Given the description of an element on the screen output the (x, y) to click on. 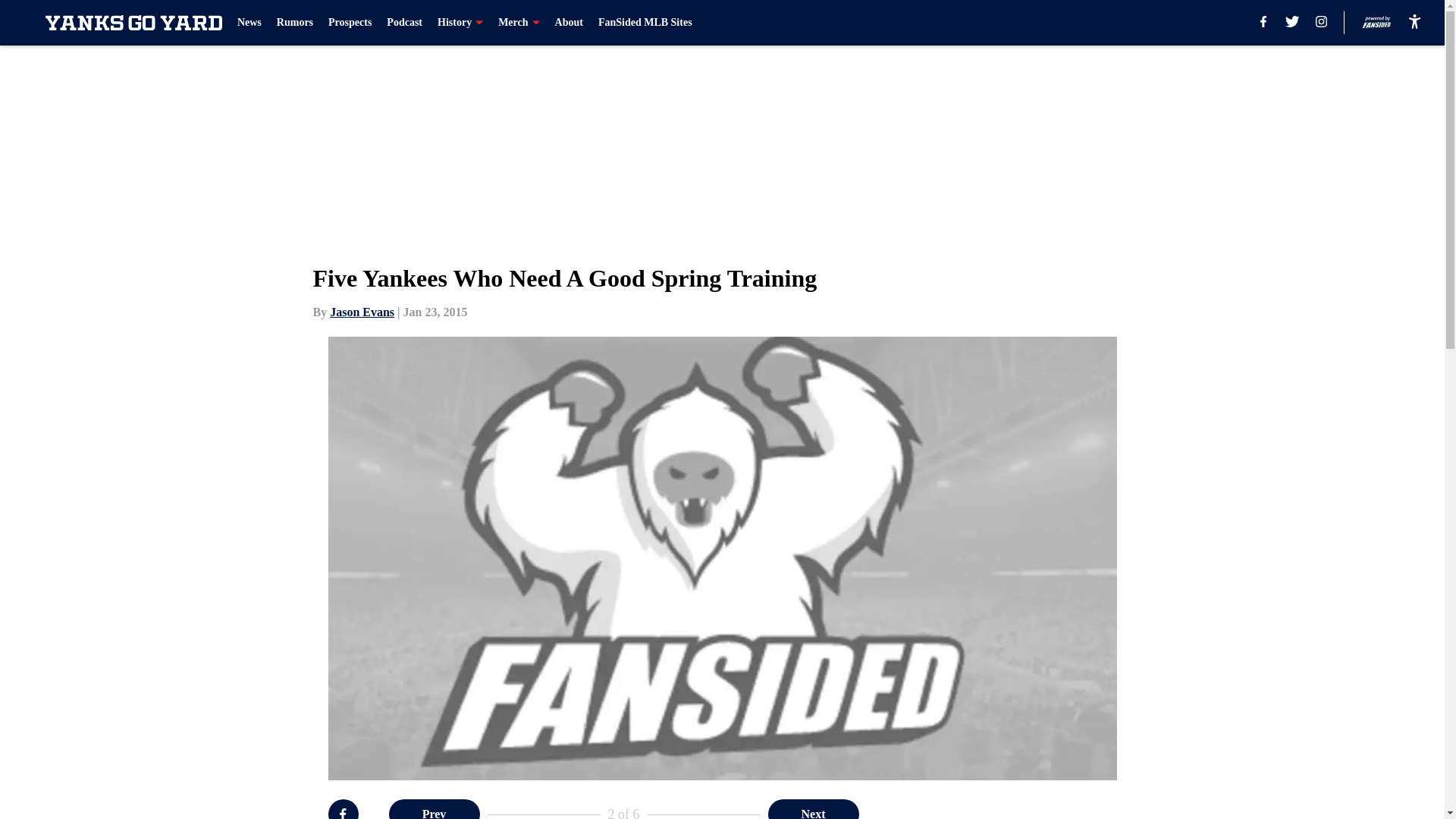
FanSided MLB Sites (645, 22)
Jason Evans (362, 311)
Next (813, 809)
About (568, 22)
Podcast (404, 22)
Rumors (294, 22)
News (249, 22)
Prospects (350, 22)
Prev (433, 809)
